Given the description of an element on the screen output the (x, y) to click on. 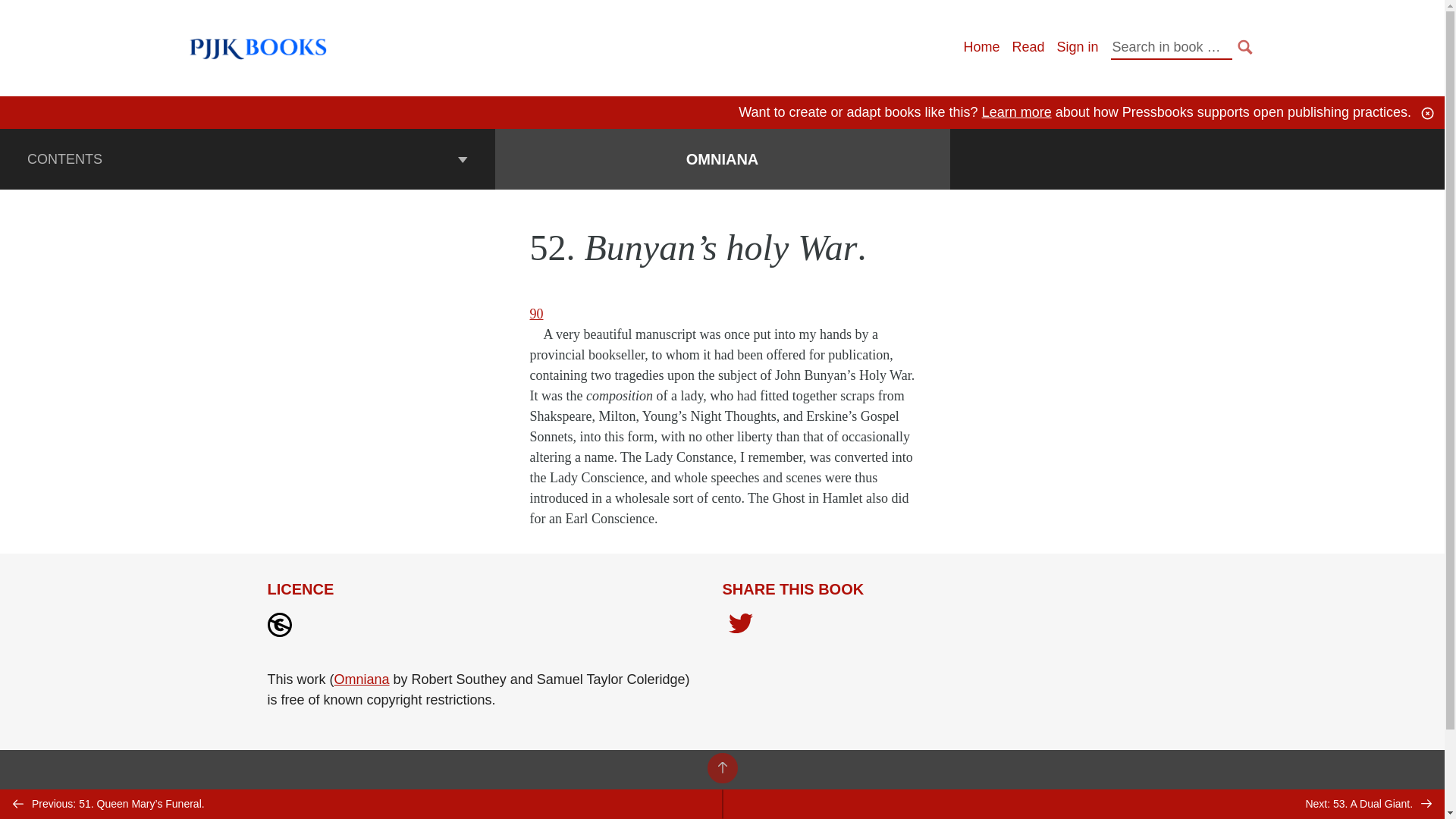
Share on Twitter (740, 624)
Pressbooks on YouTube (1174, 809)
90 (536, 313)
BACK TO TOP (721, 767)
CONTENTS (247, 158)
Learn more (1016, 111)
Home (980, 46)
Pressbooks (247, 805)
Powered by Pressbooks (712, 794)
Share on Twitter (740, 627)
Omniana (362, 679)
Read (1027, 46)
OMNIANA (721, 159)
Pressbooks on Twitter (1201, 809)
Sign in (1077, 46)
